Given the description of an element on the screen output the (x, y) to click on. 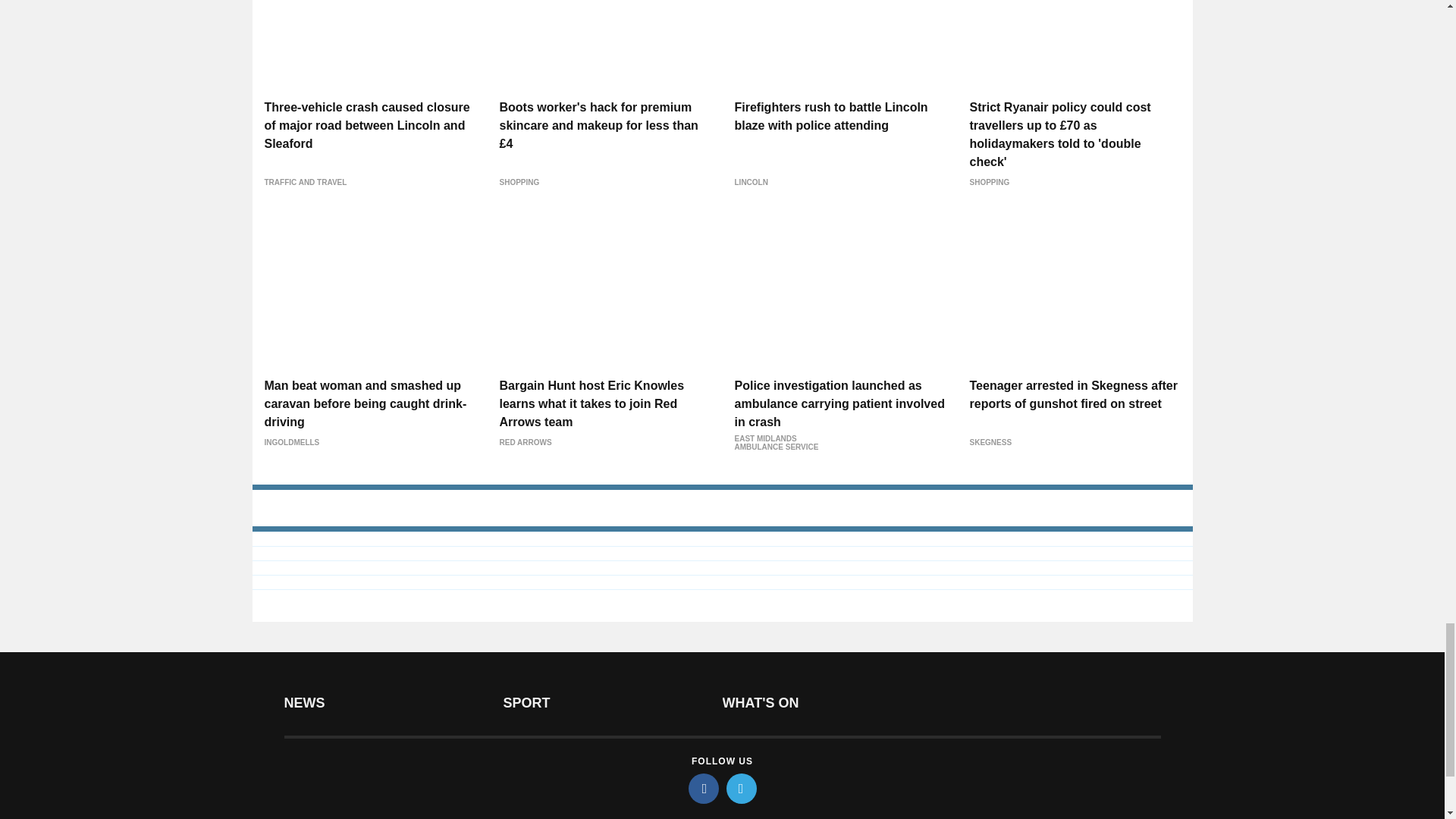
facebook (703, 788)
twitter (741, 788)
